Given the description of an element on the screen output the (x, y) to click on. 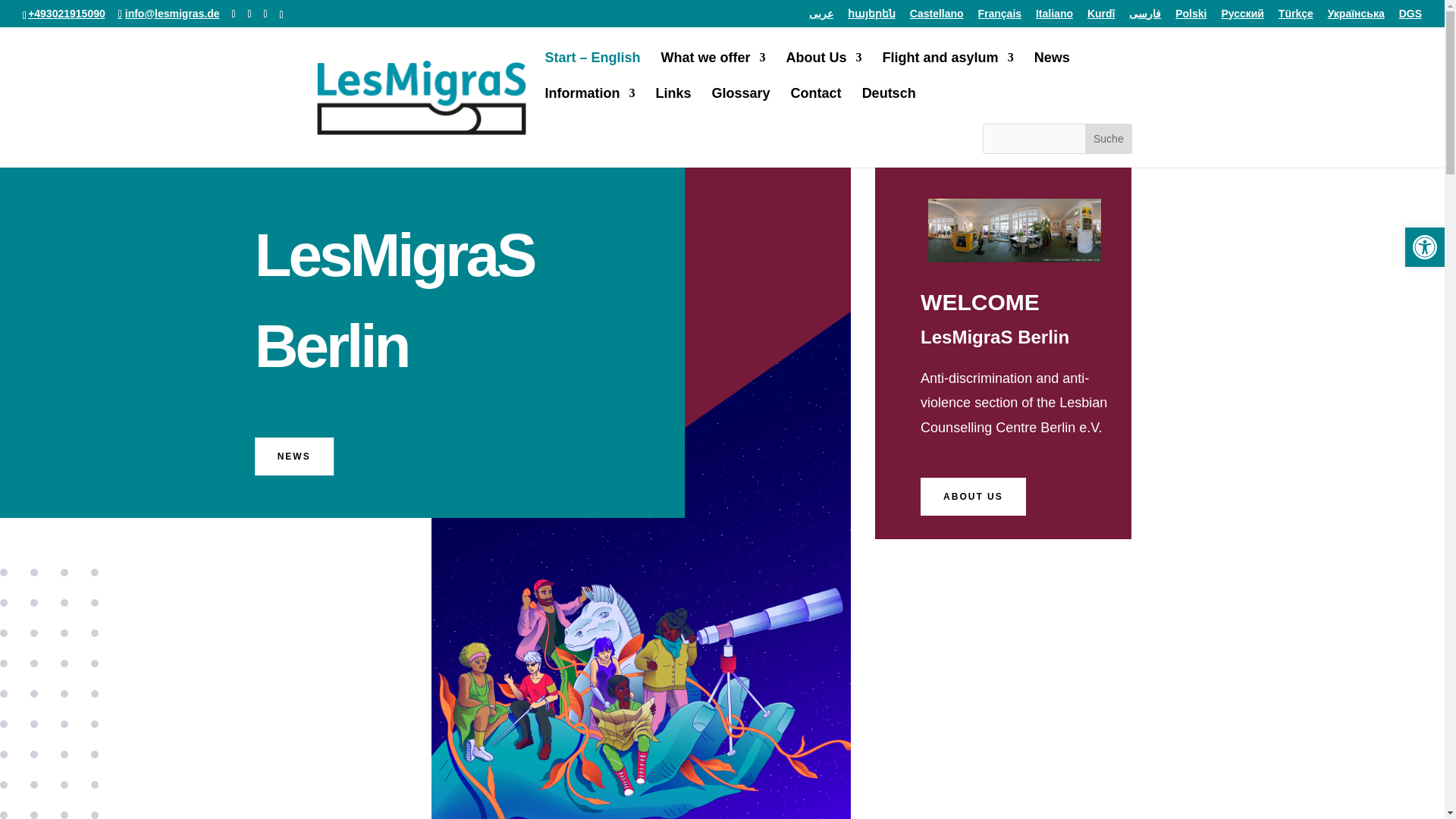
French (1000, 16)
Italiano (1054, 16)
Italian (1054, 16)
Polish (1190, 16)
Castellano (936, 16)
Polski (1190, 16)
What we offer (713, 69)
What we offer (713, 69)
Armenian (871, 16)
Kurdish (1101, 16)
Arabic (820, 16)
Ukrainian (1355, 16)
Persian (1144, 16)
DGS (1410, 16)
Barrierearmut (1424, 247)
